Given the description of an element on the screen output the (x, y) to click on. 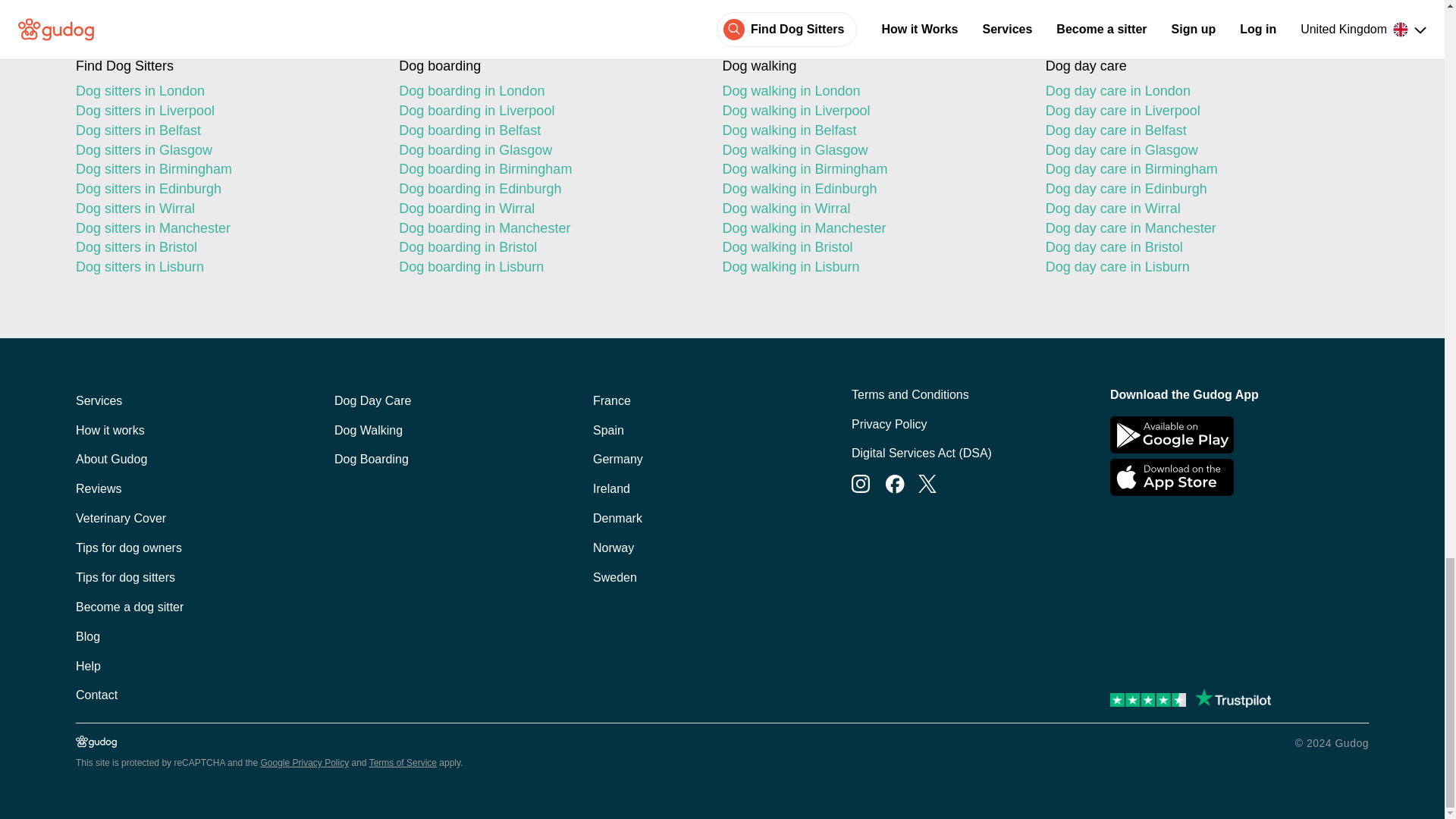
Dog sitters in Lisburn (224, 267)
Dog sitters in Liverpool (224, 111)
Dog boarding in Manchester (547, 229)
Dog boarding in Birmingham (547, 169)
Dog sitters in Edinburgh (224, 189)
Dog boarding in Liverpool (547, 111)
Dog sitters in Birmingham (224, 169)
Dog sitters in Glasgow (224, 150)
Dog sitters in Belfast (224, 130)
Dog boarding in Liverpool (547, 111)
Dog boarding in Glasgow (547, 150)
Dog sitters in Lisburn (224, 267)
Dog sitters in Bristol (224, 247)
Dog boarding in Edinburgh (547, 189)
Dog sitters in Belfast (224, 130)
